Given the description of an element on the screen output the (x, y) to click on. 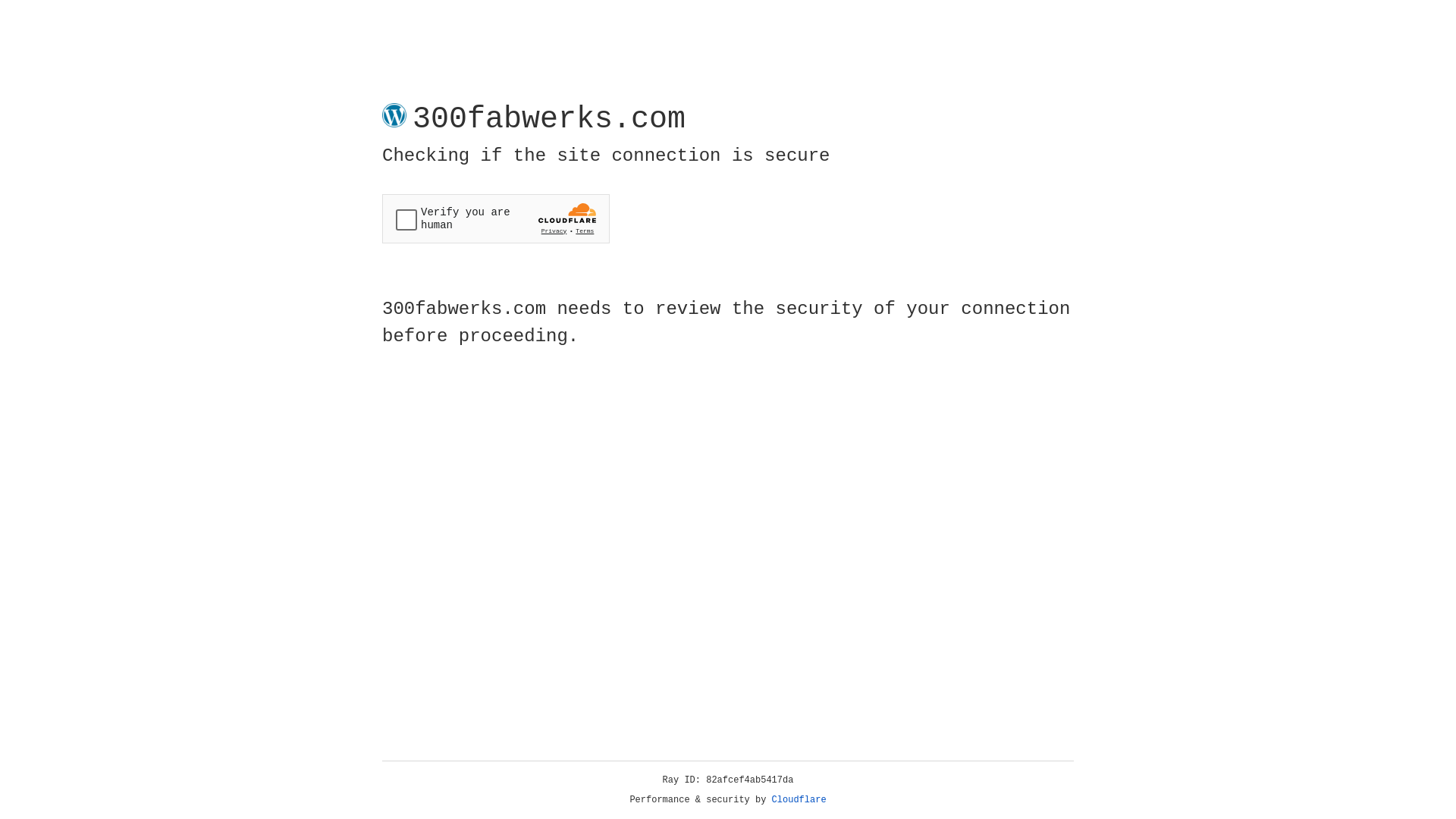
Cloudflare Element type: text (798, 799)
Widget containing a Cloudflare security challenge Element type: hover (495, 218)
